Given the description of an element on the screen output the (x, y) to click on. 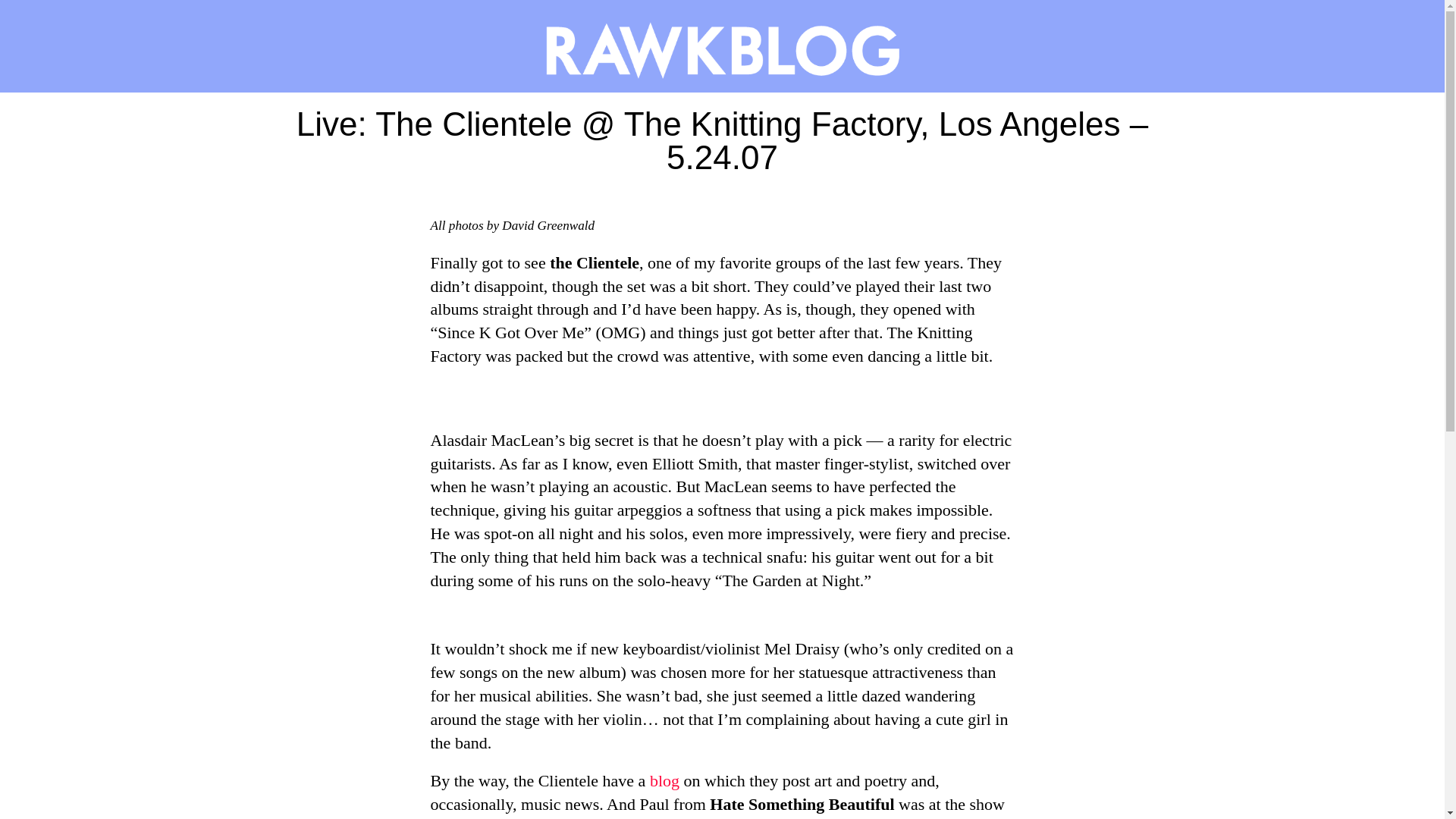
blog (664, 780)
Rawkblog (721, 46)
